Given the description of an element on the screen output the (x, y) to click on. 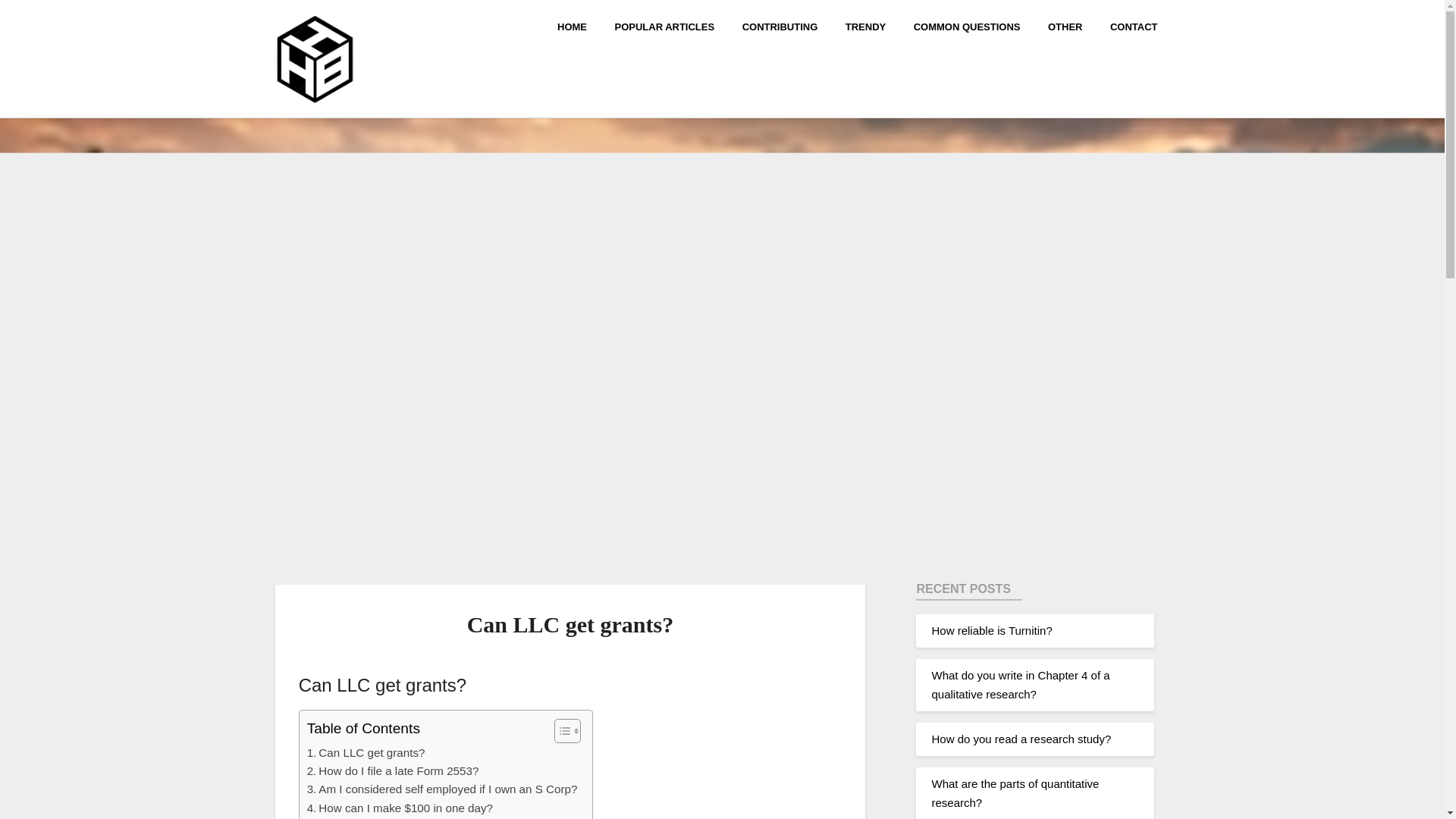
HOME (577, 26)
Am I considered self employed if I own an S Corp? (442, 789)
Am I considered self employed if I own an S Corp? (442, 789)
CONTRIBUTING (779, 26)
What are the parts of quantitative research? (1015, 792)
POPULAR ARTICLES (664, 26)
Can LLC get grants? (366, 752)
How do you read a research study? (1020, 738)
How reliable is Turnitin? (991, 630)
How do I file a late Form 2553? (393, 771)
Can LLC get grants? (366, 752)
OTHER (1064, 26)
How do I file a late Form 2553? (393, 771)
